Given the description of an element on the screen output the (x, y) to click on. 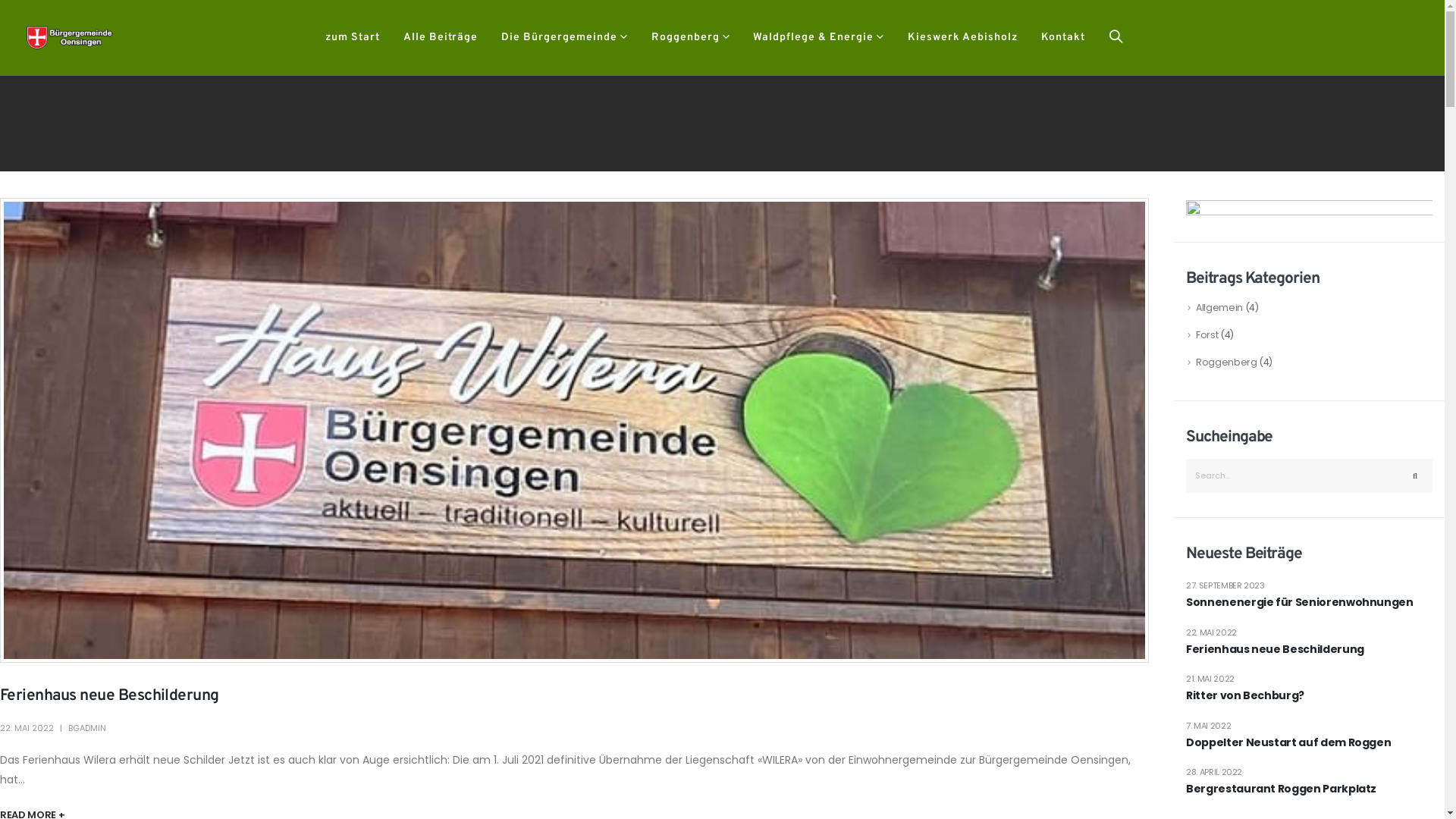
Ritter von Bechburg? Element type: text (1309, 695)
Doppelter Neustart auf dem Roggen Element type: text (1309, 742)
Ferienhaus neue Beschilderung Element type: text (109, 695)
Kieswerk Aebisholz Element type: text (963, 37)
Waldpflege & Energie Element type: text (818, 37)
Roggenberg Element type: text (690, 37)
BGADMIN Element type: text (87, 727)
Bergrestaurant Roggen Parkplatz Element type: text (1309, 789)
Ferienhaus neue Beschilderung Element type: text (1309, 649)
Kontakt Element type: text (1062, 37)
Roggenberg Element type: text (1218, 362)
Allgemein Element type: text (1210, 307)
zum Start Element type: text (352, 37)
Forst Element type: text (1198, 334)
